Given the description of an element on the screen output the (x, y) to click on. 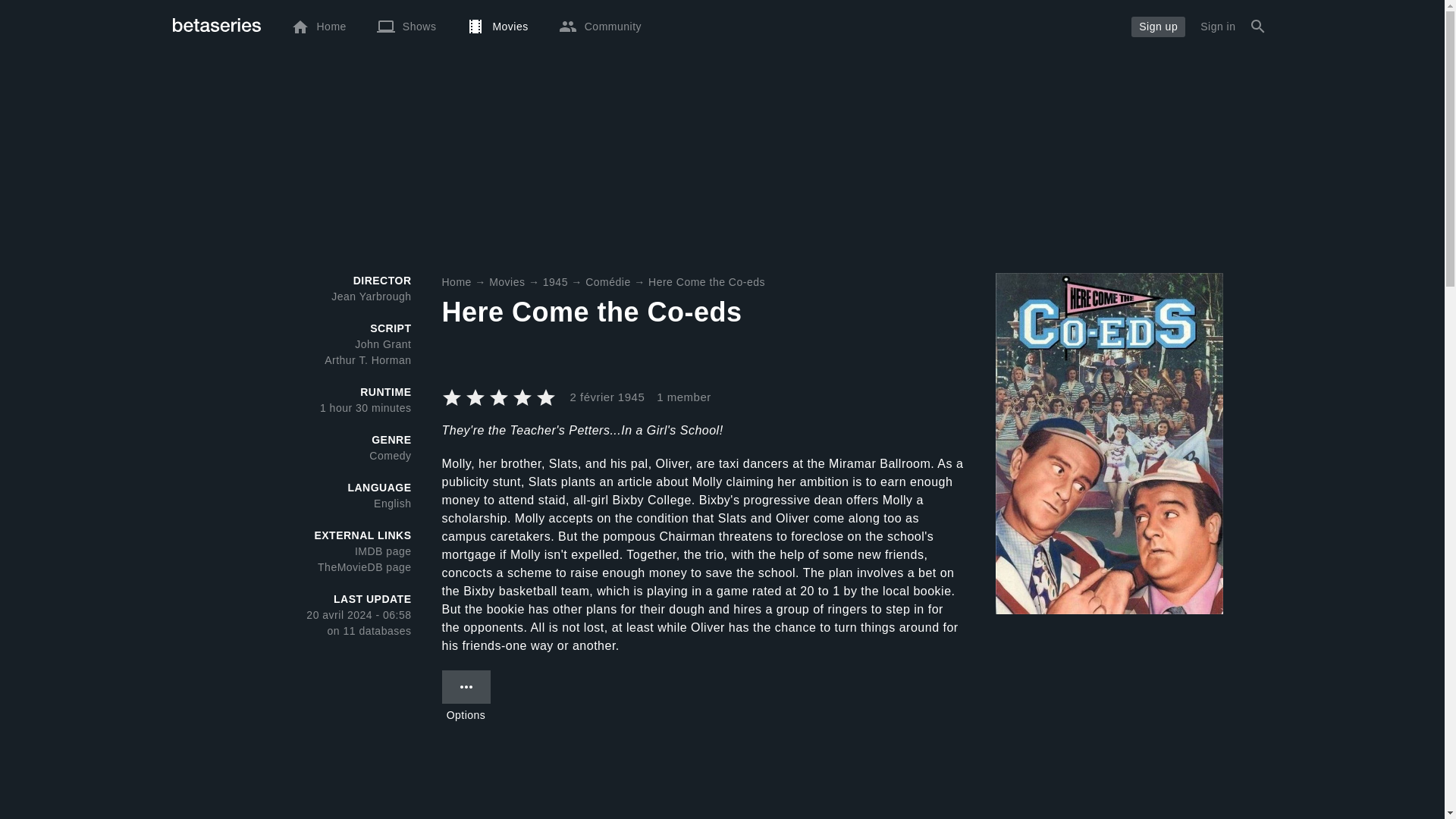
Home (455, 282)
Here Come the Co-eds (706, 282)
Community (599, 26)
Sign up (1158, 26)
TheMovieDB page (363, 567)
Arthur T. Horman (367, 359)
Sign in (1217, 26)
Home (318, 26)
Movies (506, 282)
IMDB page (383, 551)
